Given the description of an element on the screen output the (x, y) to click on. 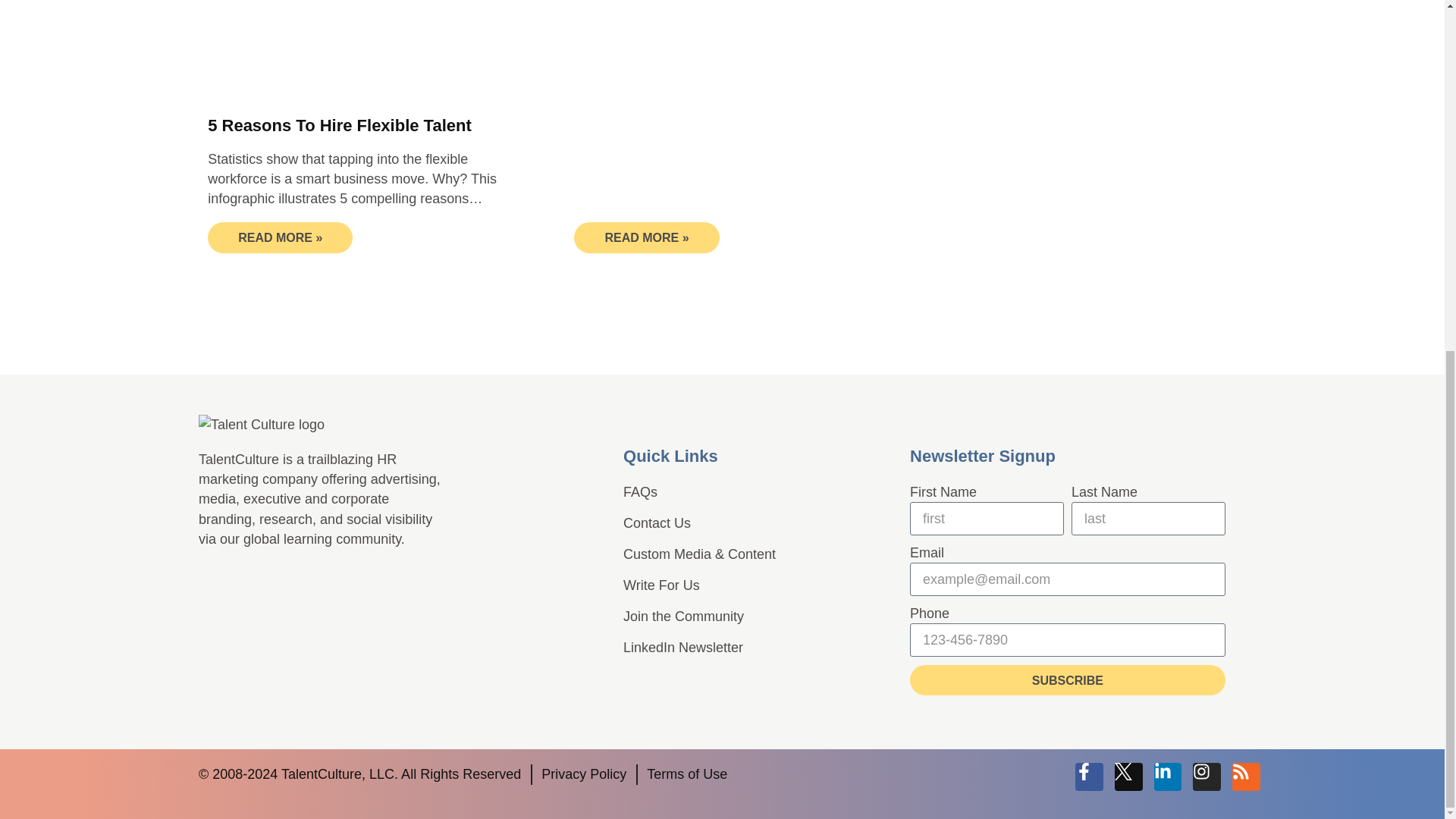
5 Reasons To Hire Flexible Talent (339, 125)
